Given the description of an element on the screen output the (x, y) to click on. 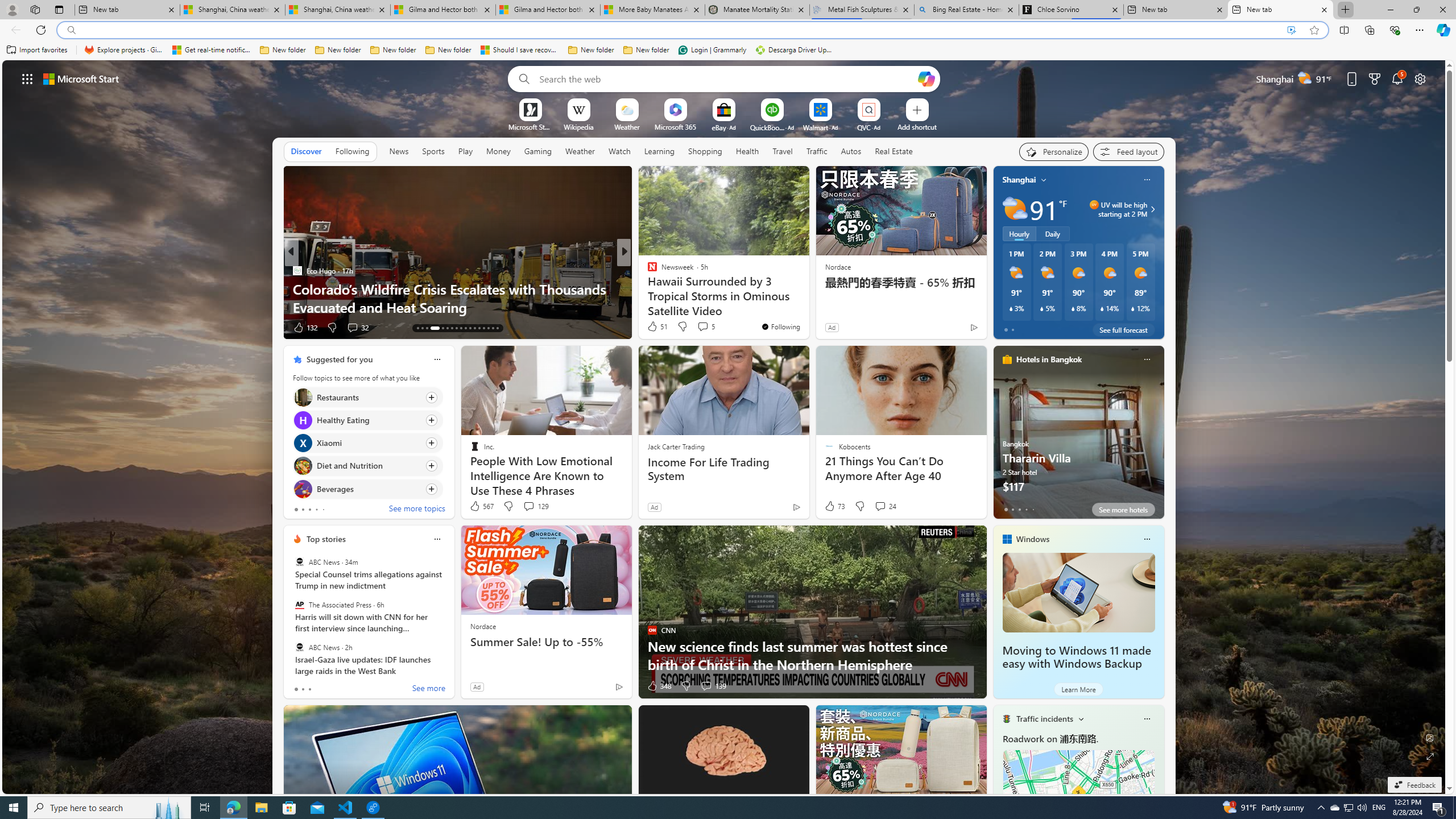
View comments 3 Comment (702, 327)
View comments 5 Comment (703, 326)
Hourly (1018, 233)
tab-0 (295, 689)
tab-2 (309, 689)
Real Estate (893, 151)
See more hotels (1123, 509)
View comments 129 Comment (535, 505)
